Given the description of an element on the screen output the (x, y) to click on. 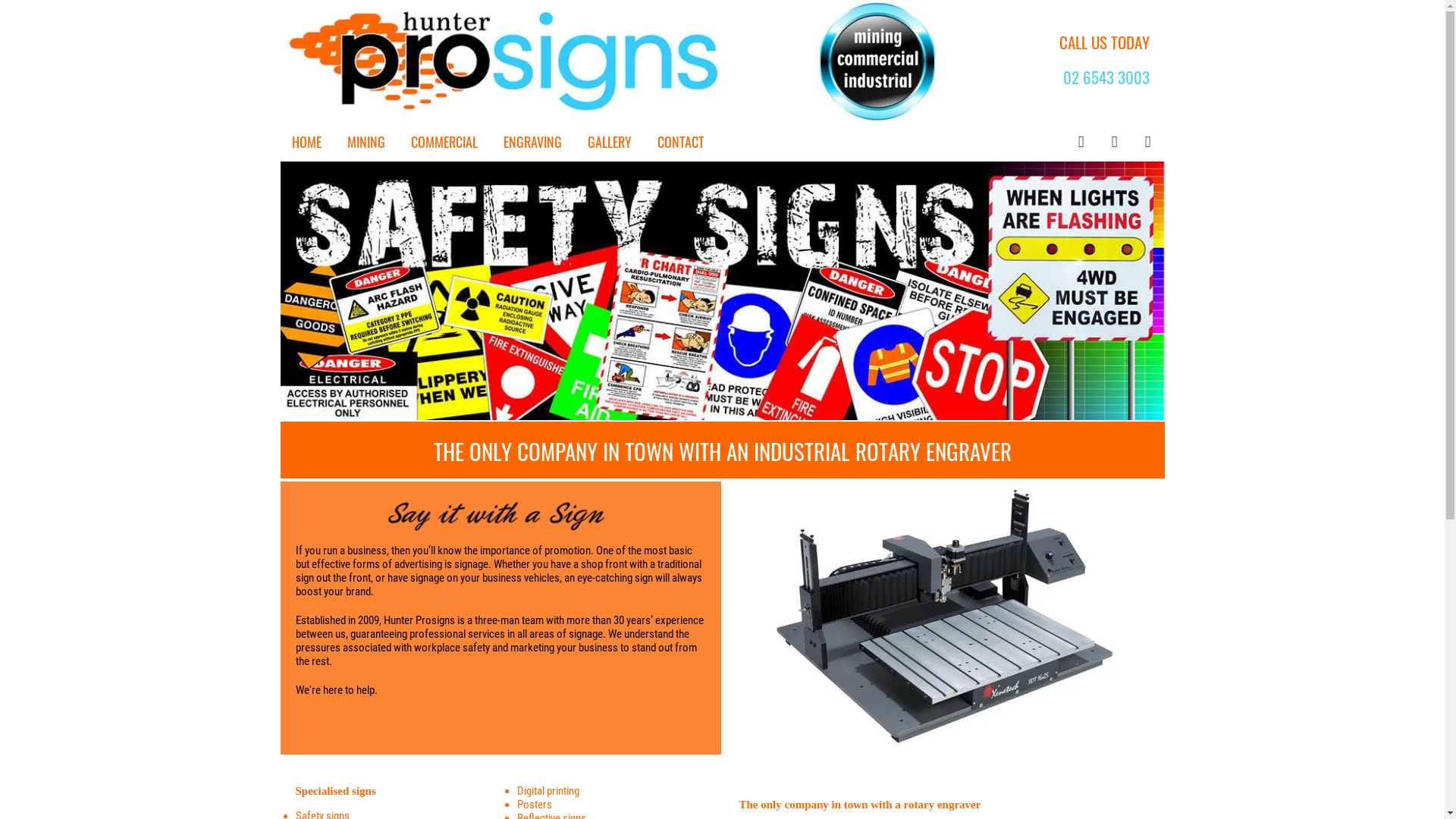
Hunter Prosigns Say it with a sign Element type: hover (496, 516)
02 6543 3003 Element type: text (1106, 76)
COMMERCIAL Element type: text (444, 141)
MINING Element type: text (366, 141)
Hunter Prosigns Engraving alone Element type: hover (943, 617)
CONTACT Element type: text (679, 141)
prosigns-hunter-logo3 Element type: hover (611, 61)
ENGRAVING Element type: text (532, 141)
HOME Element type: text (305, 141)
GALLERY Element type: text (608, 141)
